Given the description of an element on the screen output the (x, y) to click on. 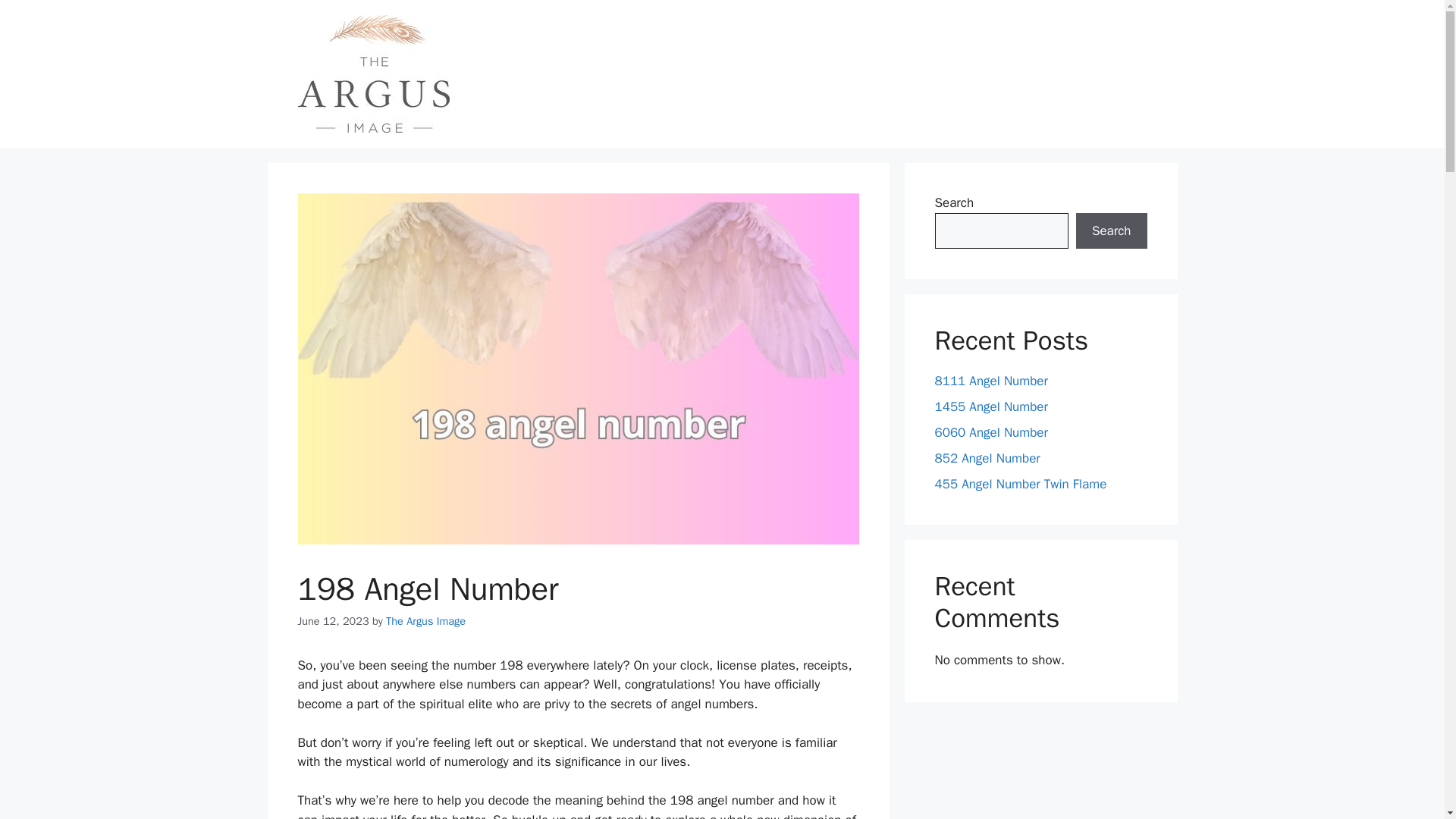
The Argus Image (425, 621)
8111 Angel Number (990, 381)
6060 Angel Number (990, 432)
455 Angel Number Twin Flame (1020, 483)
852 Angel Number (986, 458)
View all posts by The Argus Image (425, 621)
1455 Angel Number (990, 406)
Search (1111, 230)
